Given the description of an element on the screen output the (x, y) to click on. 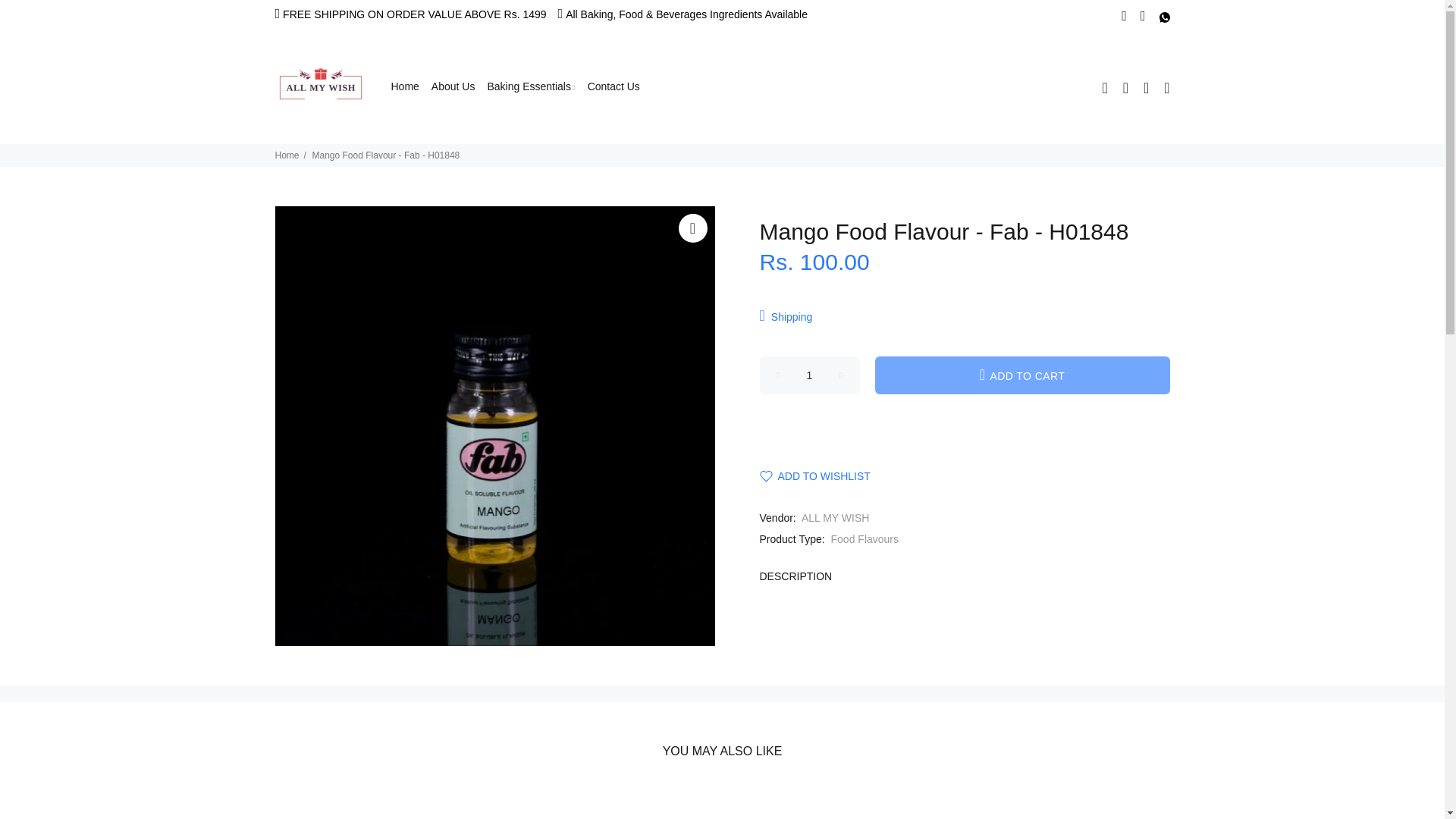
1 (810, 374)
Contact Us (610, 86)
About Us (453, 86)
Baking Essentials (530, 86)
Home (403, 86)
